Given the description of an element on the screen output the (x, y) to click on. 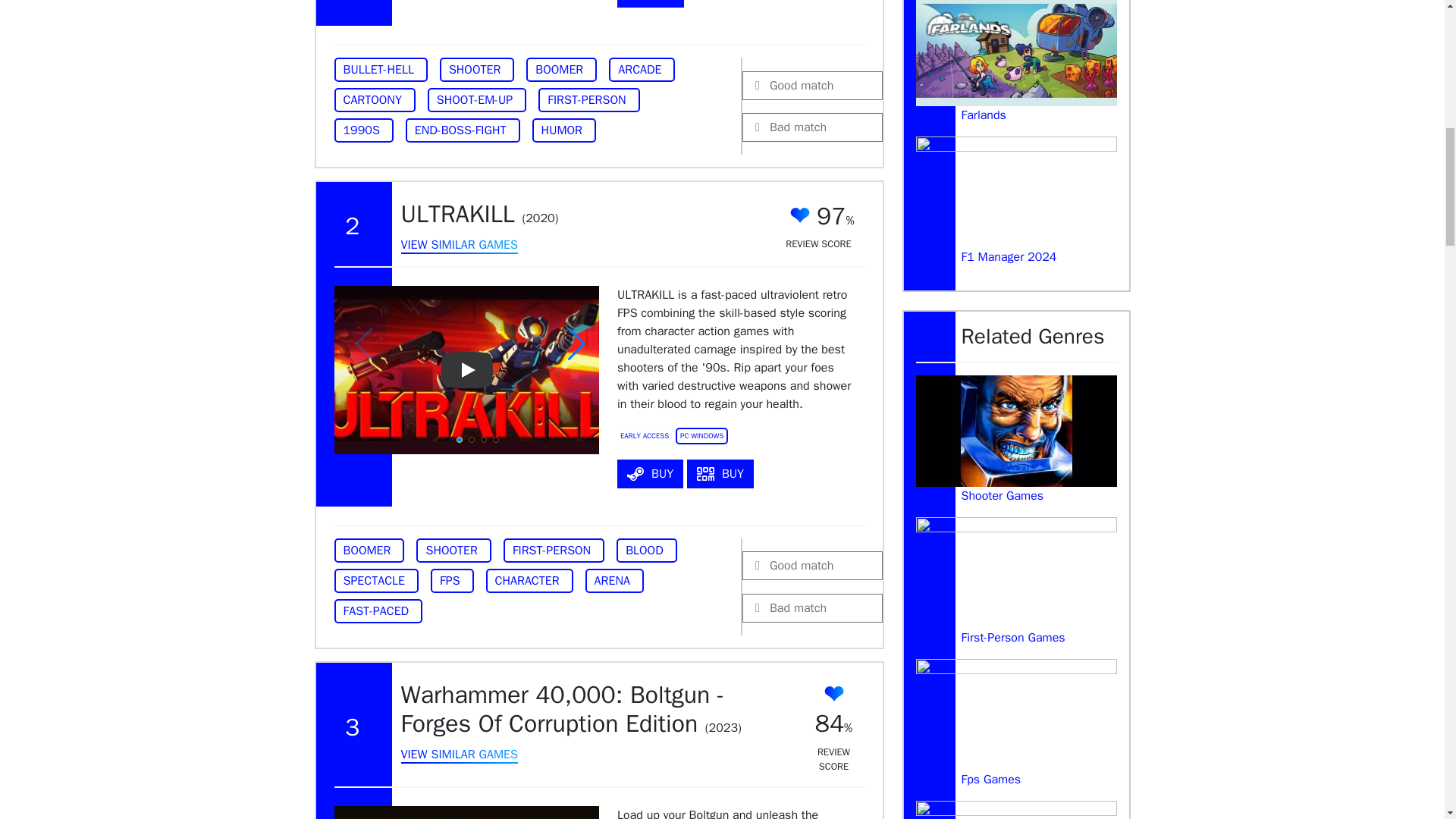
Vote NO, this game is not a good match (812, 607)
More information about ULTRAKILL on Steam (649, 473)
Previous (363, 812)
Vote YES, this game a good match (812, 85)
More information about Shogun on GOG.com (650, 3)
Vote YES, this game a good match (812, 565)
Games likes ULTRAKILL on 50gameslike.com (458, 245)
Vote NO, this game is not a good match (812, 127)
More information about ULTRAKILL on GOG.com (720, 473)
Next (575, 812)
